Given the description of an element on the screen output the (x, y) to click on. 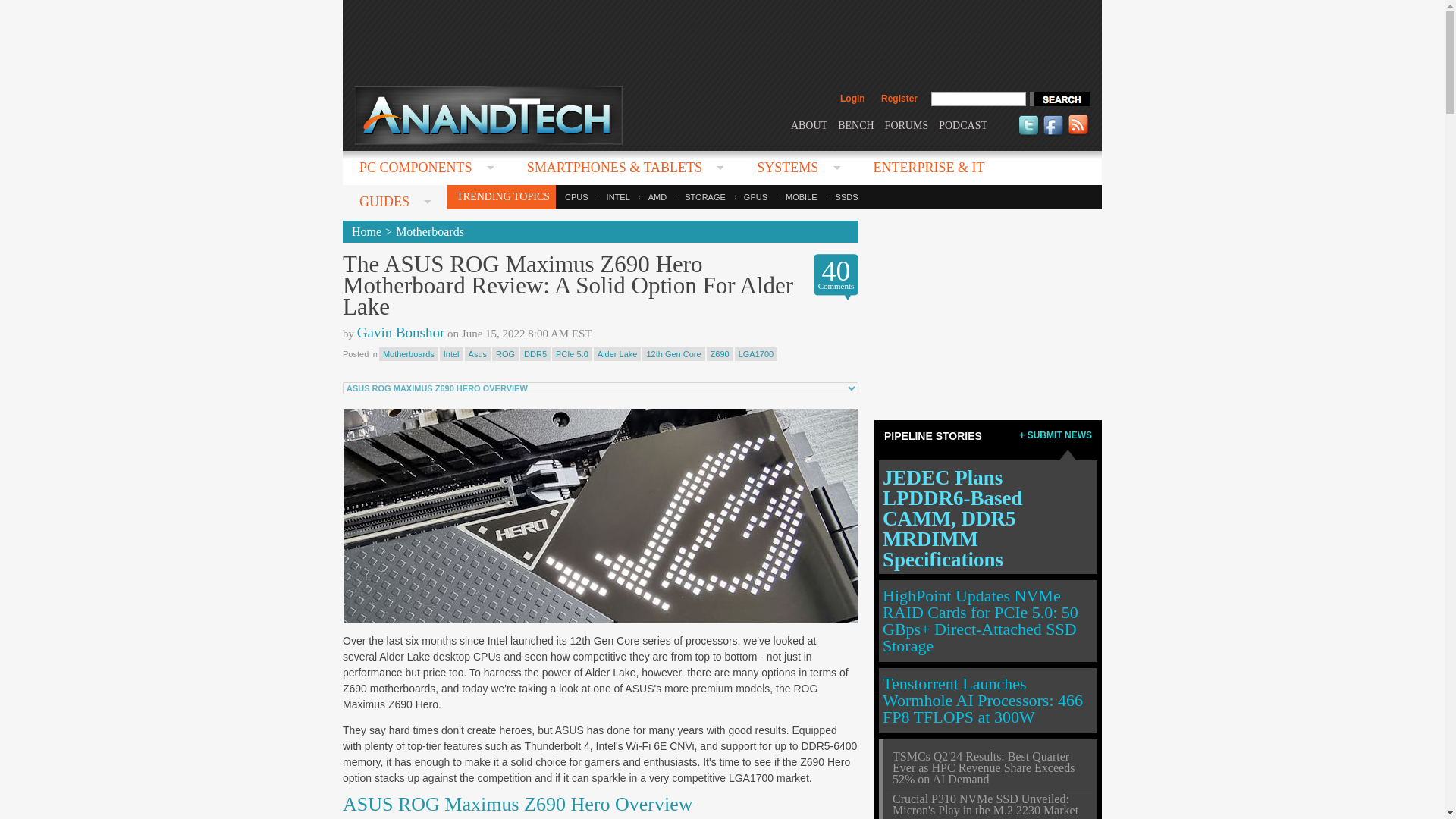
search (1059, 98)
Login (852, 98)
FORUMS (906, 125)
ABOUT (808, 125)
Register (898, 98)
search (1059, 98)
search (1059, 98)
PODCAST (963, 125)
BENCH (855, 125)
